Given the description of an element on the screen output the (x, y) to click on. 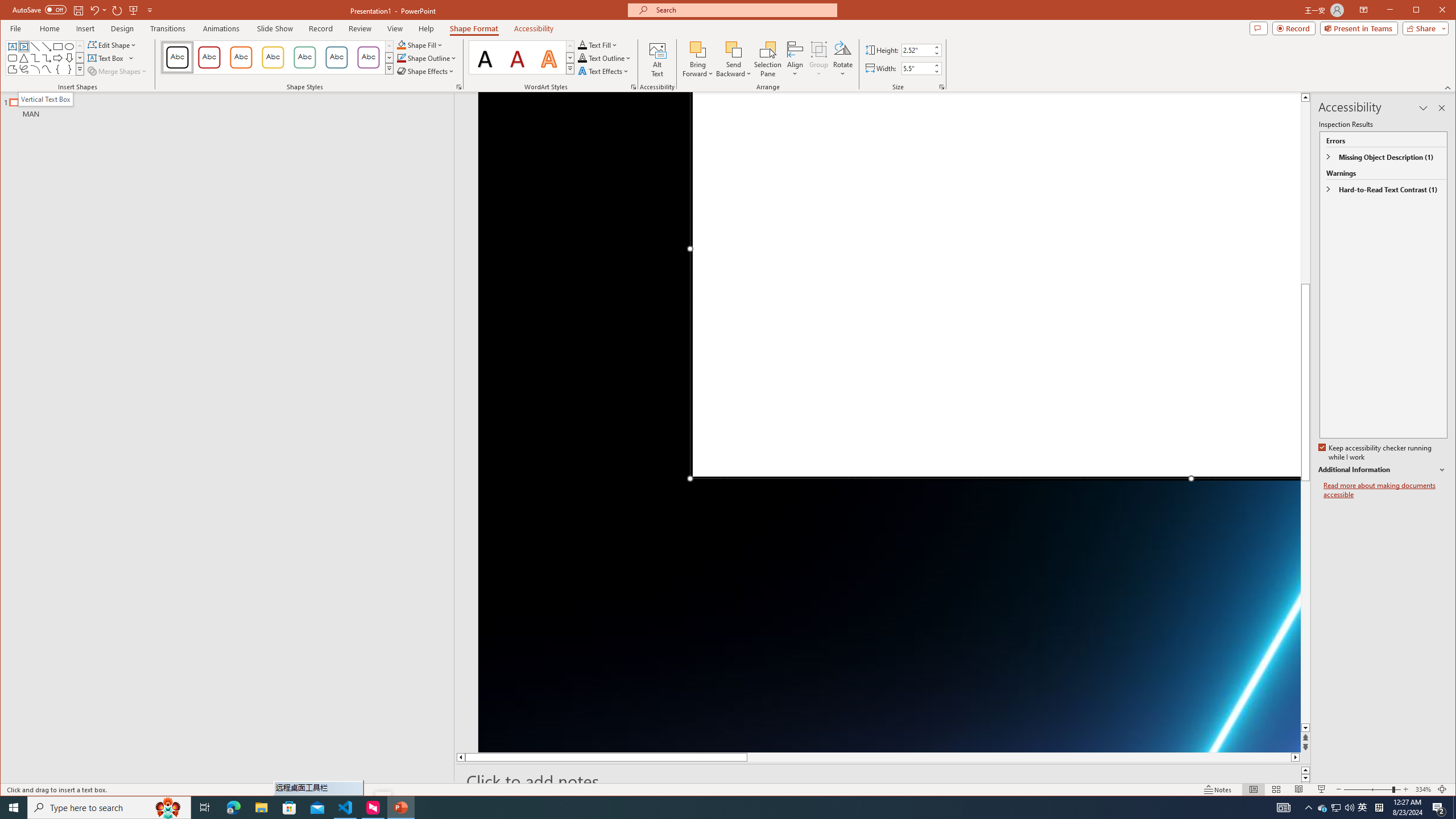
Bring Forward (697, 59)
